Given the description of an element on the screen output the (x, y) to click on. 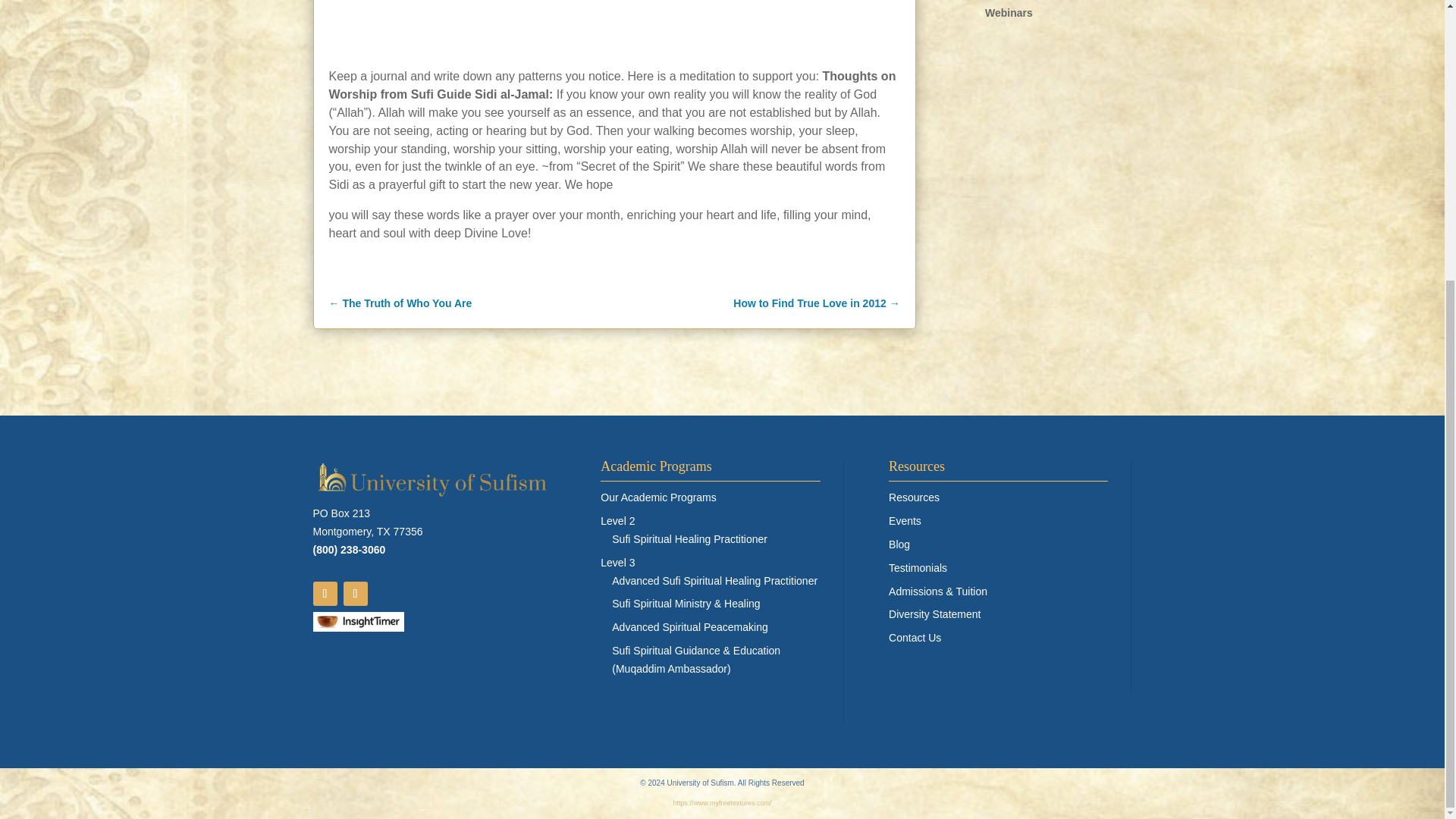
insight-timer-sm (358, 621)
Follow on Facebook (324, 593)
Follow on Instagram (354, 593)
